Given the description of an element on the screen output the (x, y) to click on. 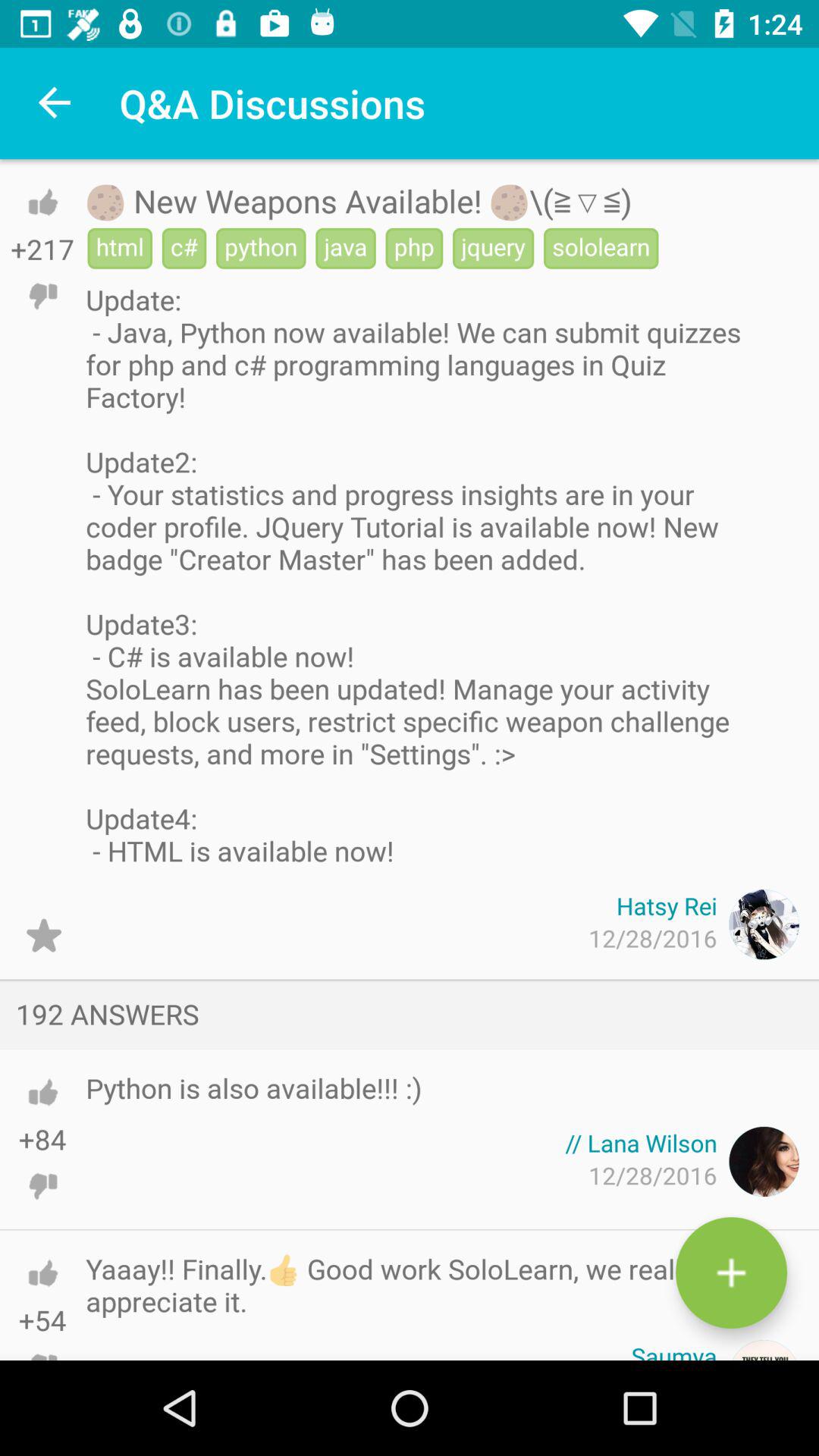
do n't like (42, 1186)
